Given the description of an element on the screen output the (x, y) to click on. 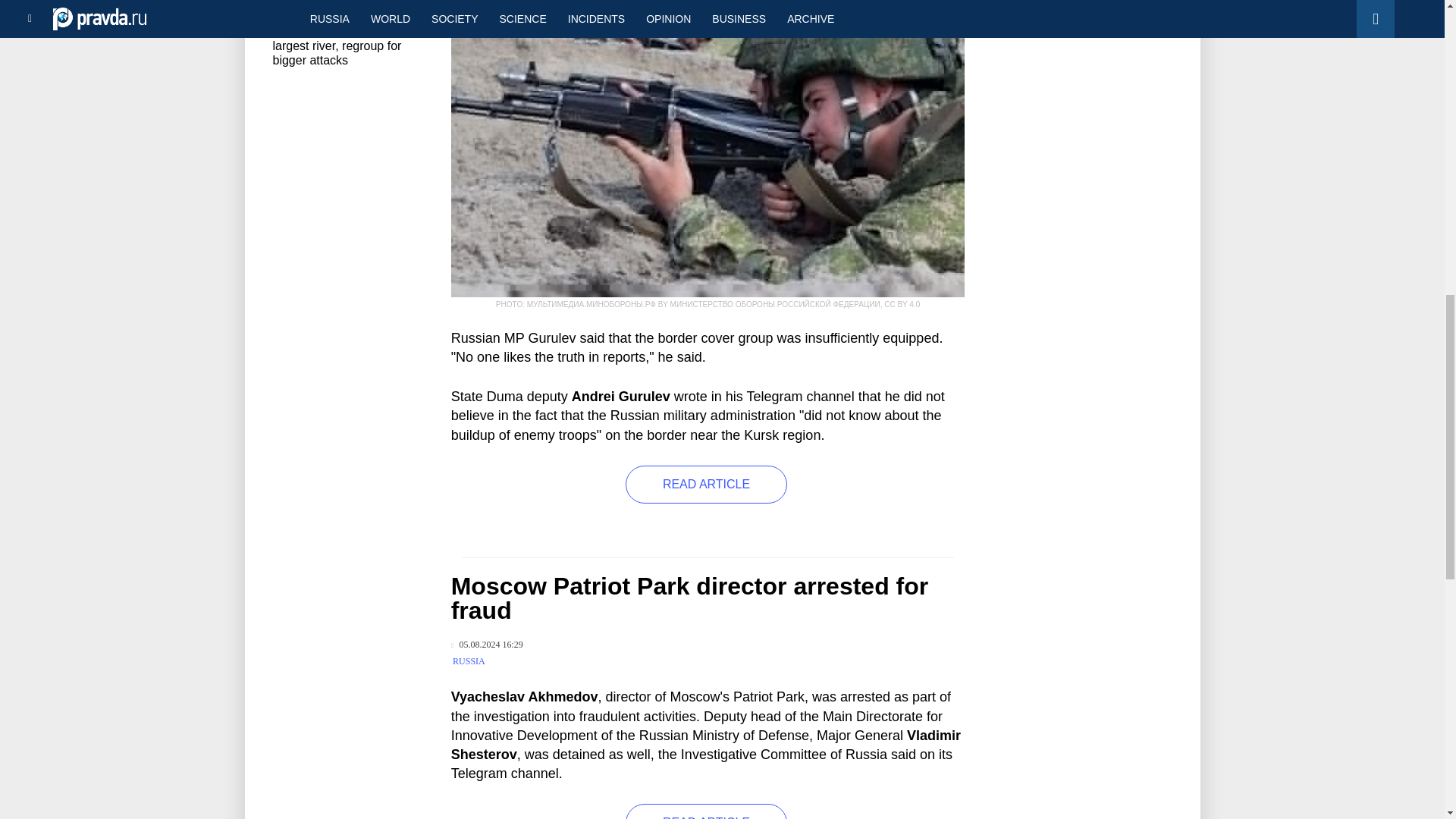
Back to top (1418, 79)
Published (486, 644)
